Given the description of an element on the screen output the (x, y) to click on. 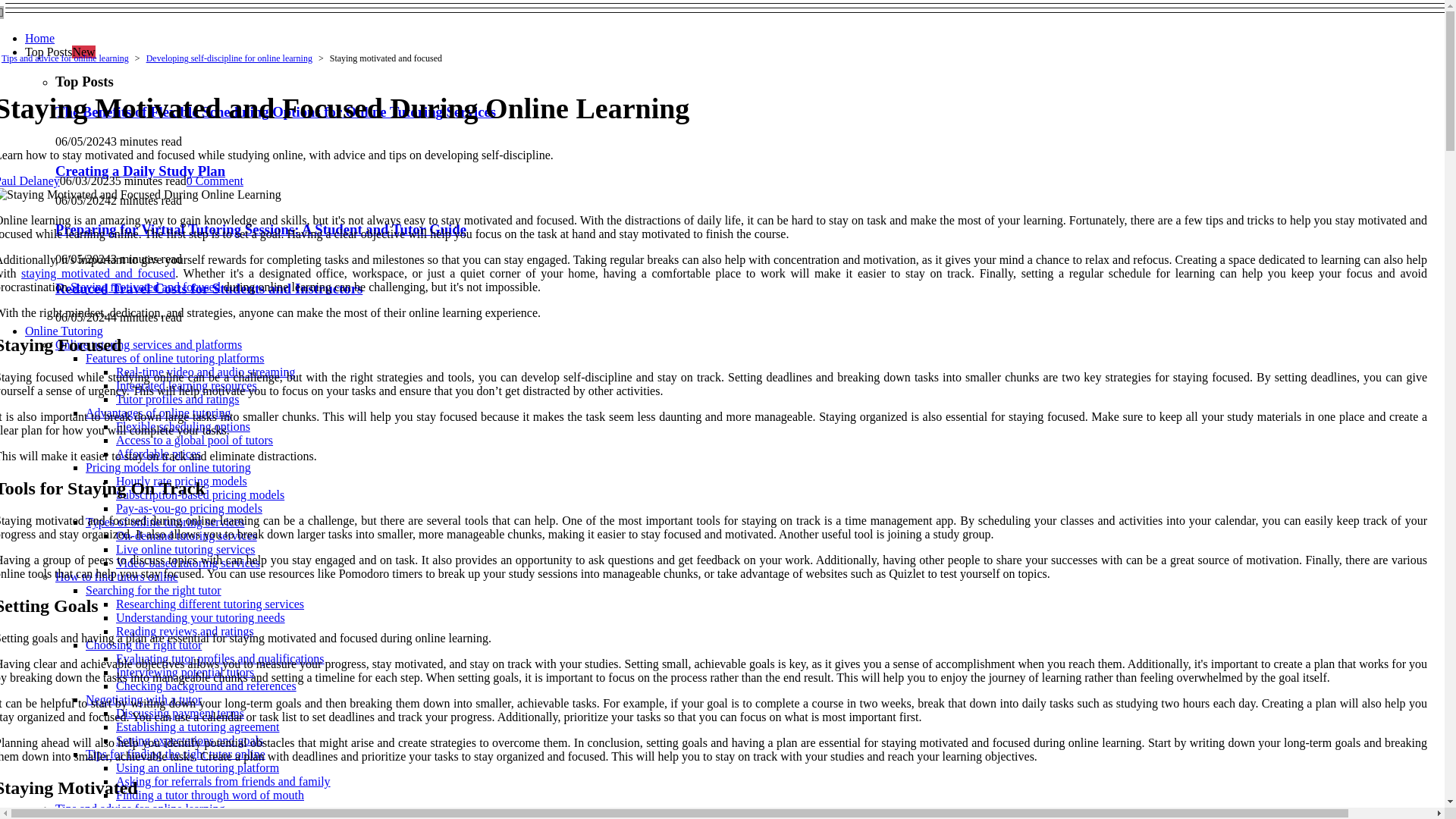
Features of online tutoring platforms (174, 358)
How to find tutors online (116, 576)
Researching different tutoring services (210, 603)
On-demand tutoring services (186, 535)
Negotiating with a tutor (143, 698)
Affordable prices (158, 453)
Choosing the right tutor (143, 644)
Real-time video and audio streaming (205, 371)
Subscription-based pricing models (199, 494)
Online Tutoring (63, 330)
Reduced Travel Costs for Students and Instructors (208, 288)
Types of online tutoring services (164, 521)
Live online tutoring services (186, 549)
Checking background and references (206, 685)
Online tutoring services and platforms (148, 344)
